Given the description of an element on the screen output the (x, y) to click on. 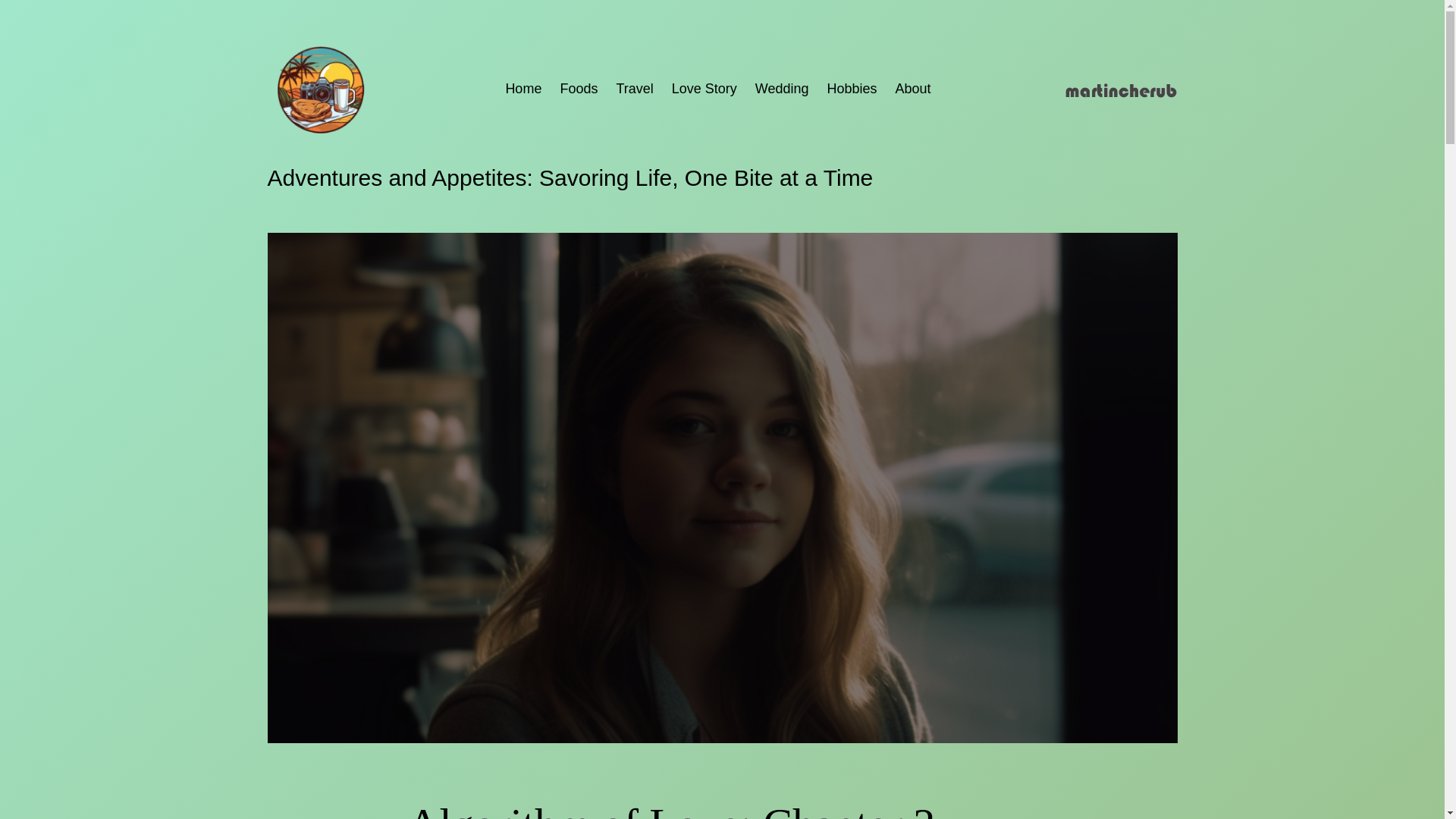
Wedding (782, 88)
Travel (633, 88)
Foods (577, 88)
About (913, 88)
Home (523, 88)
Hobbies (852, 88)
Love Story (703, 88)
